Given the description of an element on the screen output the (x, y) to click on. 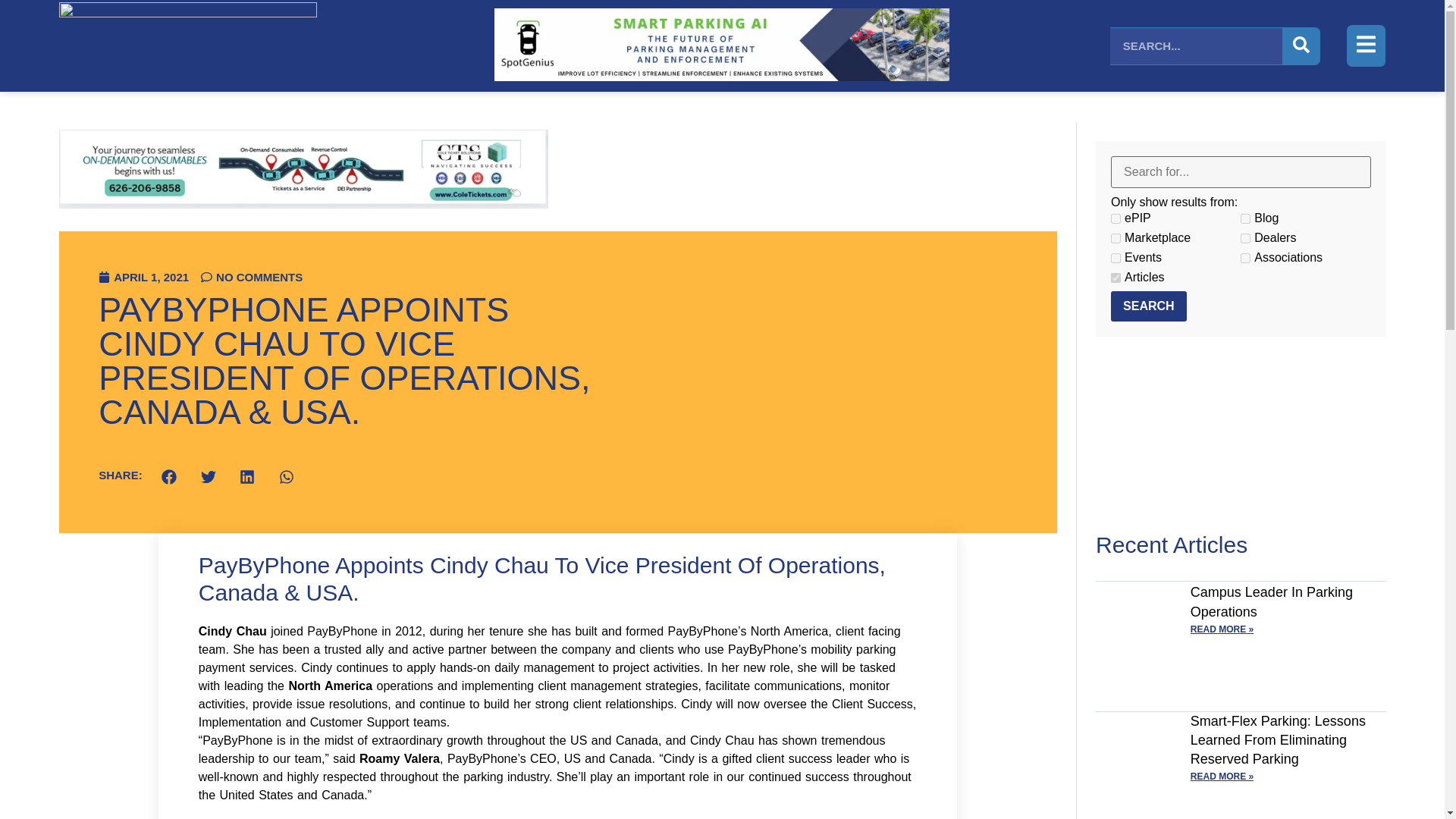
ePIP (1115, 218)
Search (1148, 306)
Events (1115, 257)
Search (1148, 306)
NO COMMENTS (251, 276)
Campus Leader In Parking Operations (1271, 601)
Articles (1115, 277)
Blog (1245, 218)
Marketplace (1115, 238)
Associations (1245, 257)
